Given the description of an element on the screen output the (x, y) to click on. 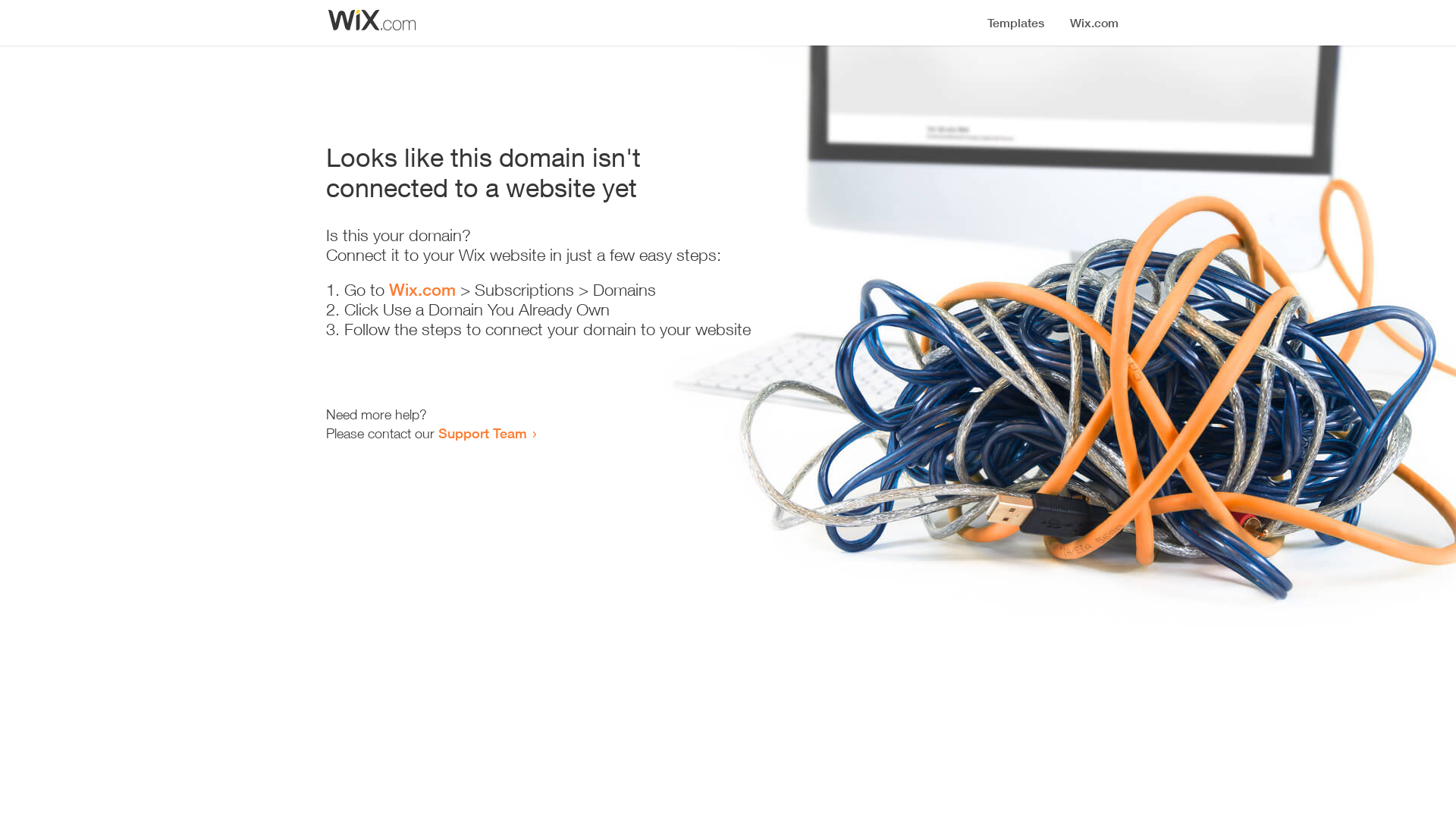
Support Team Element type: text (482, 432)
Wix.com Element type: text (422, 289)
